Given the description of an element on the screen output the (x, y) to click on. 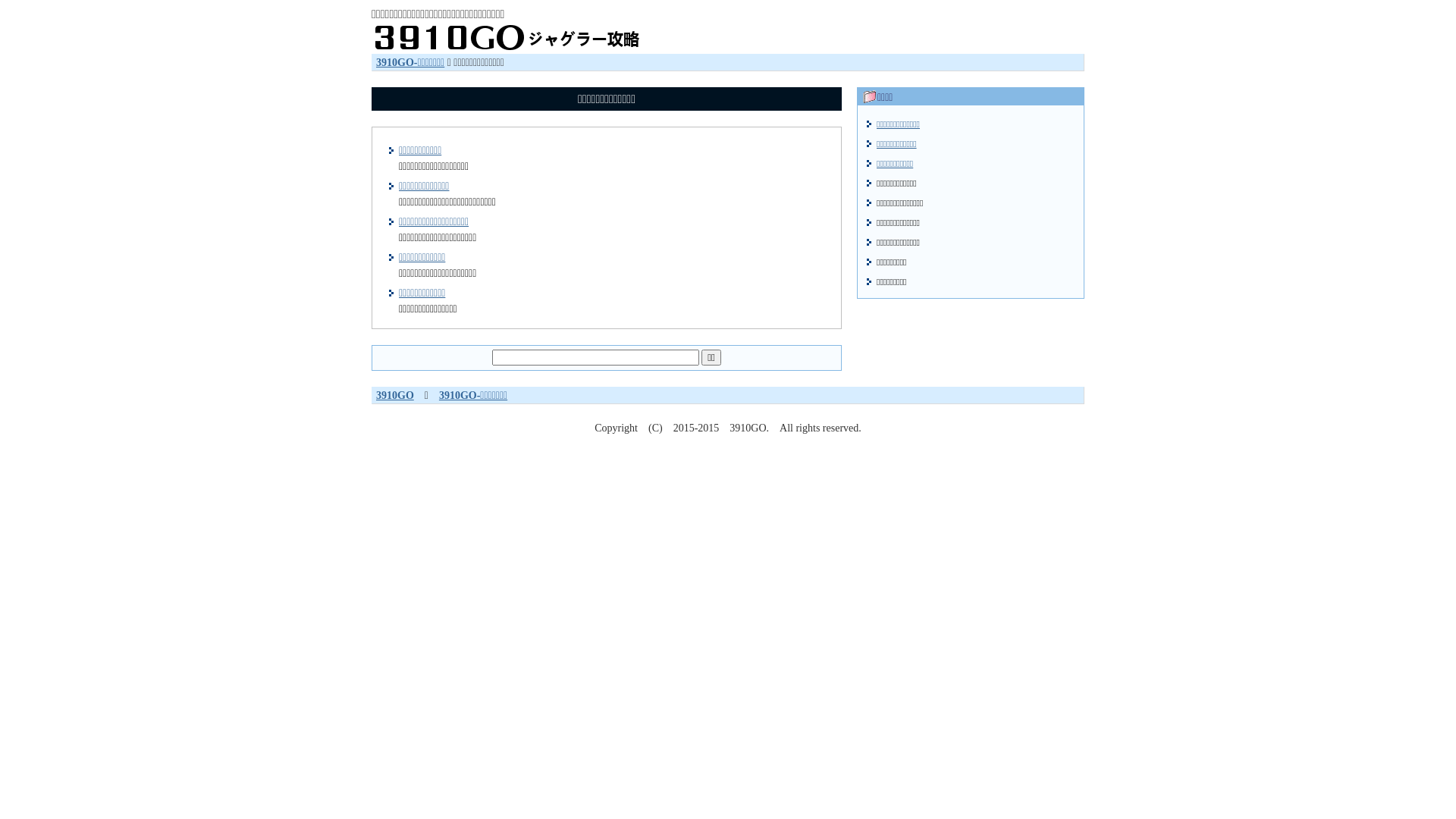
3910GO Element type: text (395, 395)
